Given the description of an element on the screen output the (x, y) to click on. 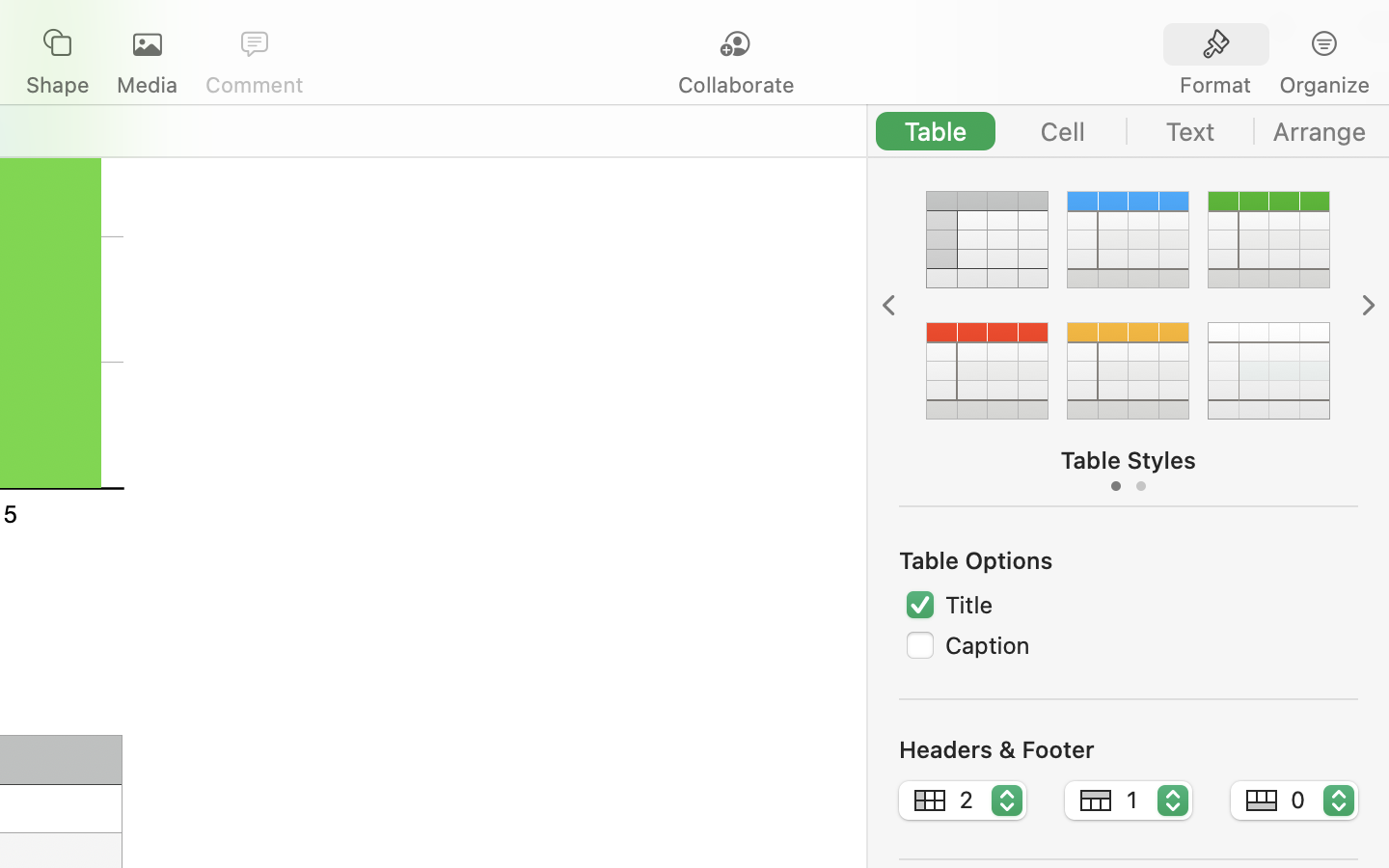
Headers & Footer Element type: AXStaticText (996, 748)
<AXUIElement 0x17eb34b80> {pid=1420} Element type: AXGroup (1270, 45)
Organize Element type: AXStaticText (1323, 84)
